Given the description of an element on the screen output the (x, y) to click on. 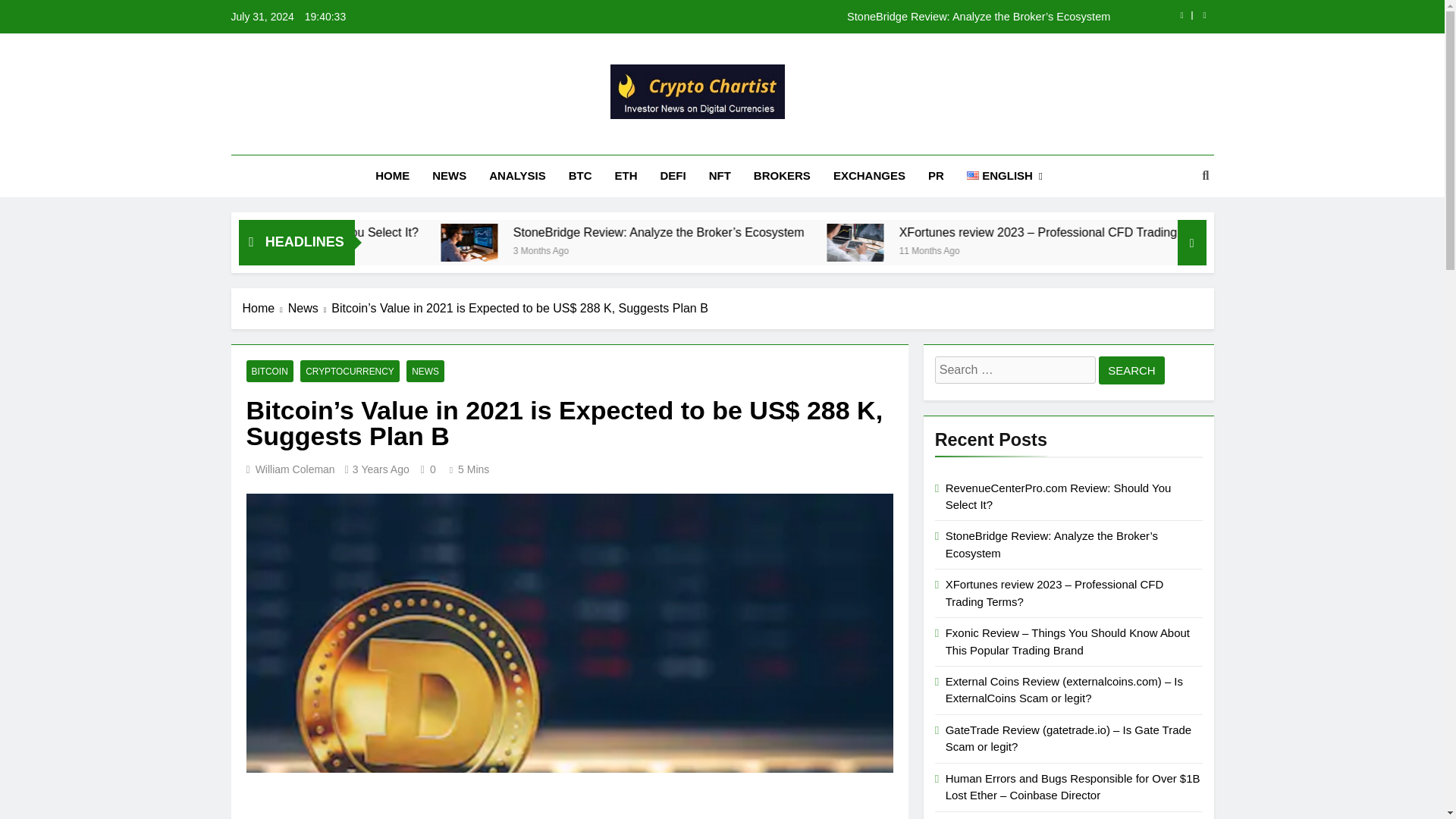
3 Months Ago (874, 249)
BROKERS (782, 175)
Search (1131, 370)
RevenueCenterPro.com Review: Should You Select It? (605, 232)
Search (1131, 370)
DEFI (673, 175)
ETH (626, 175)
ANALYSIS (516, 175)
RevenueCenterPro.com Review: Should You Select It? (413, 242)
BTC (580, 175)
